Given the description of an element on the screen output the (x, y) to click on. 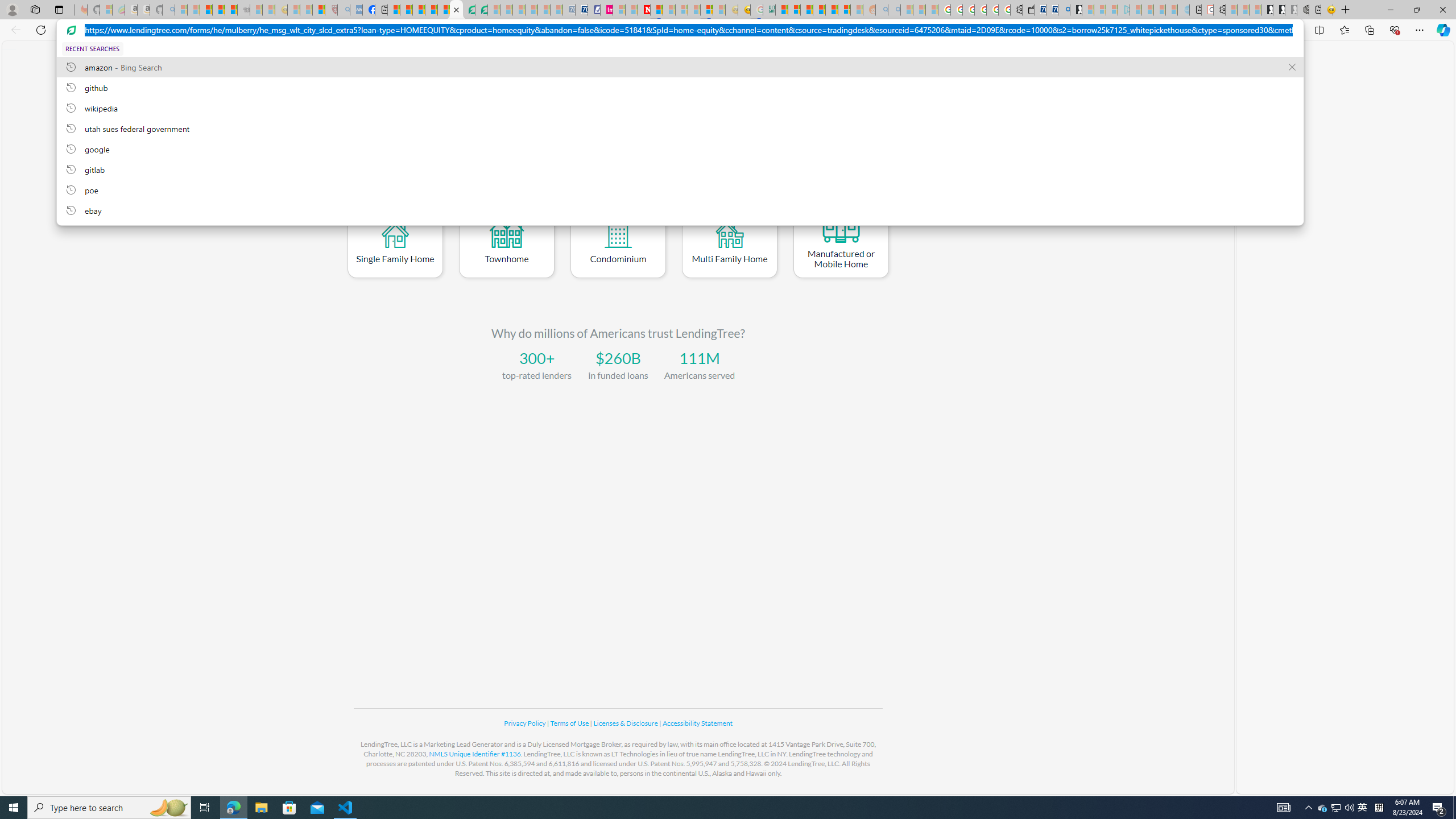
Pets - MSN (431, 9)
utah sues federal government, recent searches from history (679, 127)
Privacy Policy  (525, 723)
ebay, recent searches from history (679, 209)
Licenses & Disclosure  (625, 723)
New Report Confirms 2023 Was Record Hot | Watch (230, 9)
